Given the description of an element on the screen output the (x, y) to click on. 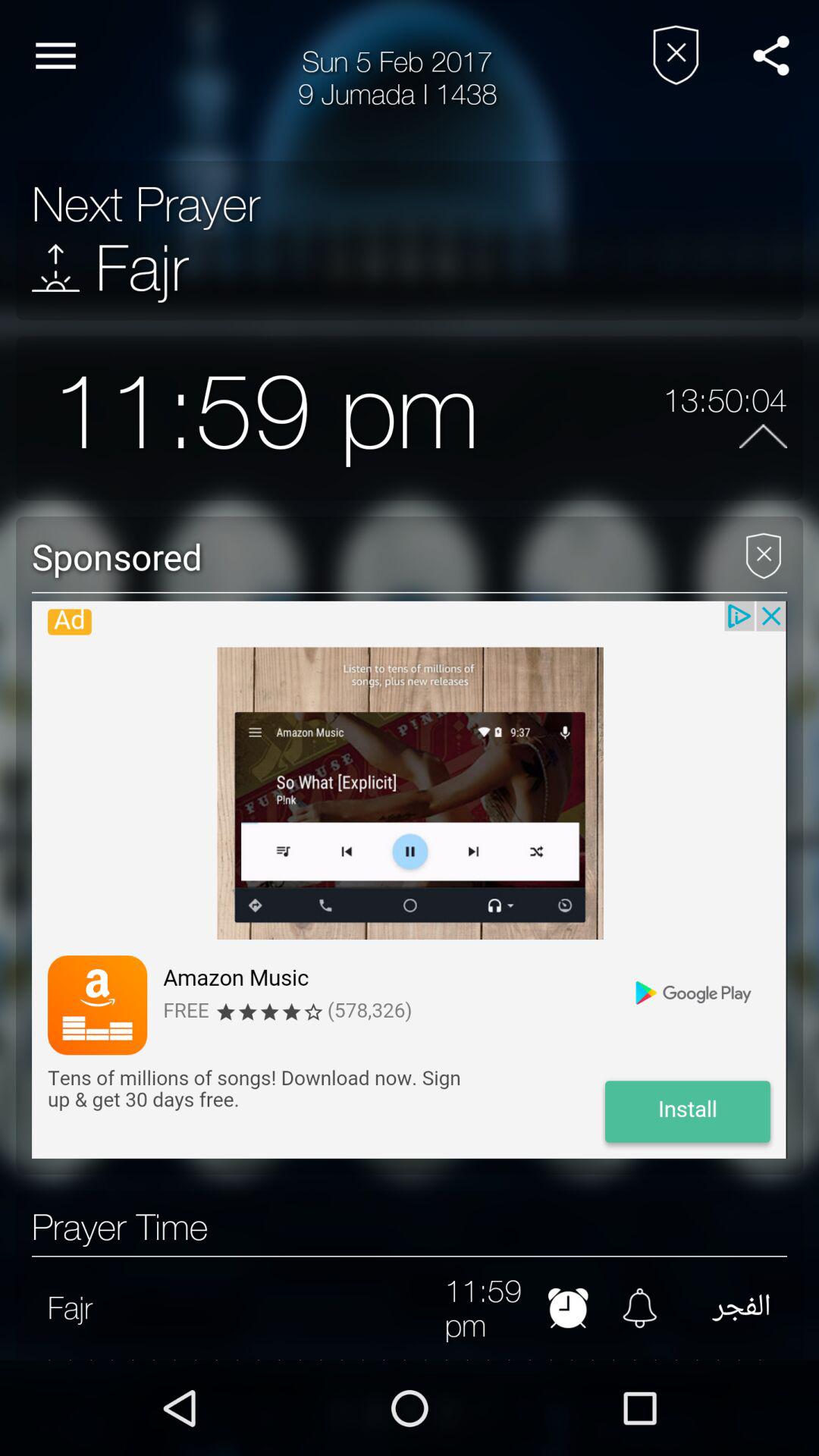
toggle alarm (639, 1308)
